Given the description of an element on the screen output the (x, y) to click on. 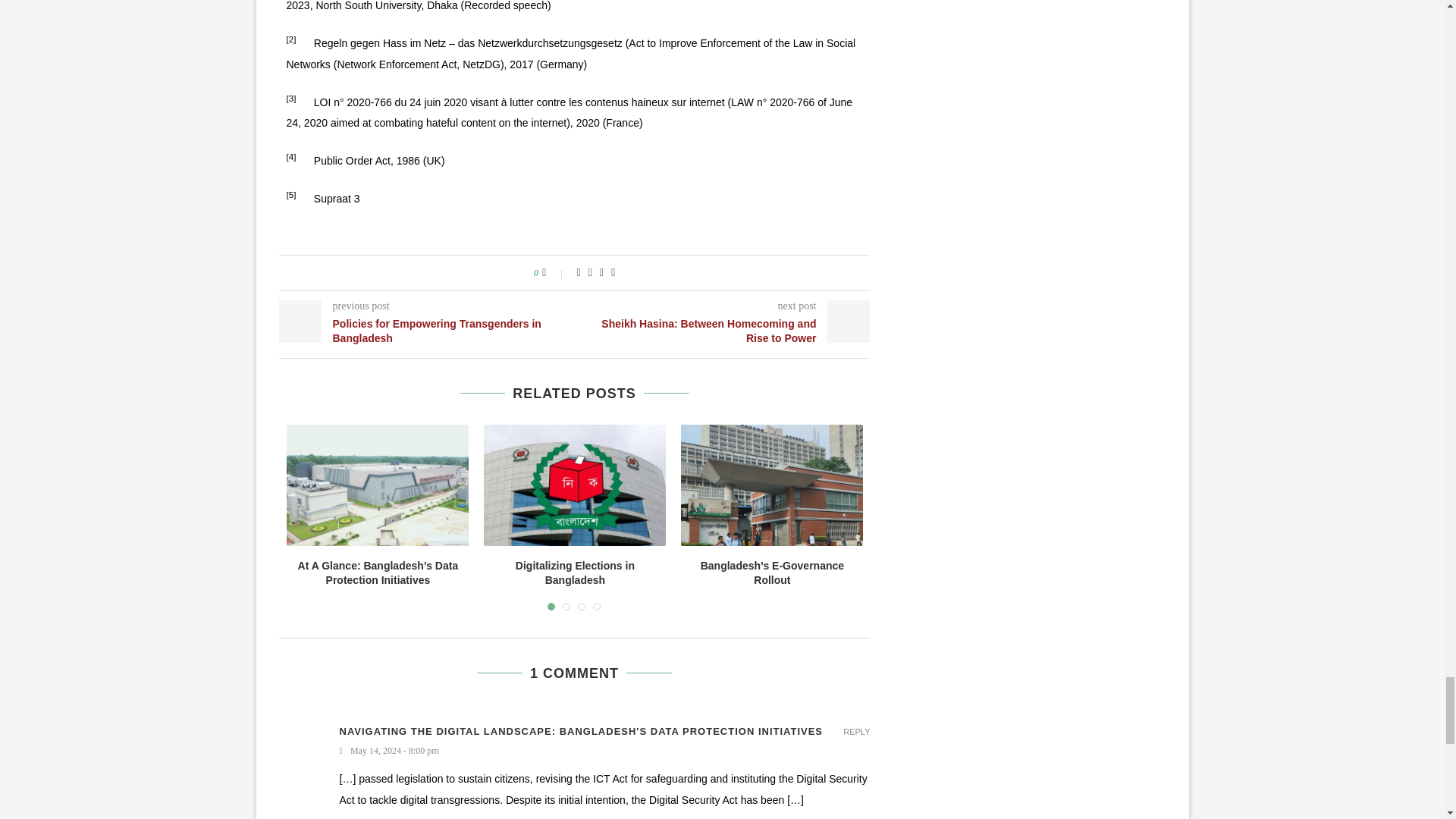
Digitalizing Elections in Bangladesh (574, 485)
Like (553, 272)
